Given the description of an element on the screen output the (x, y) to click on. 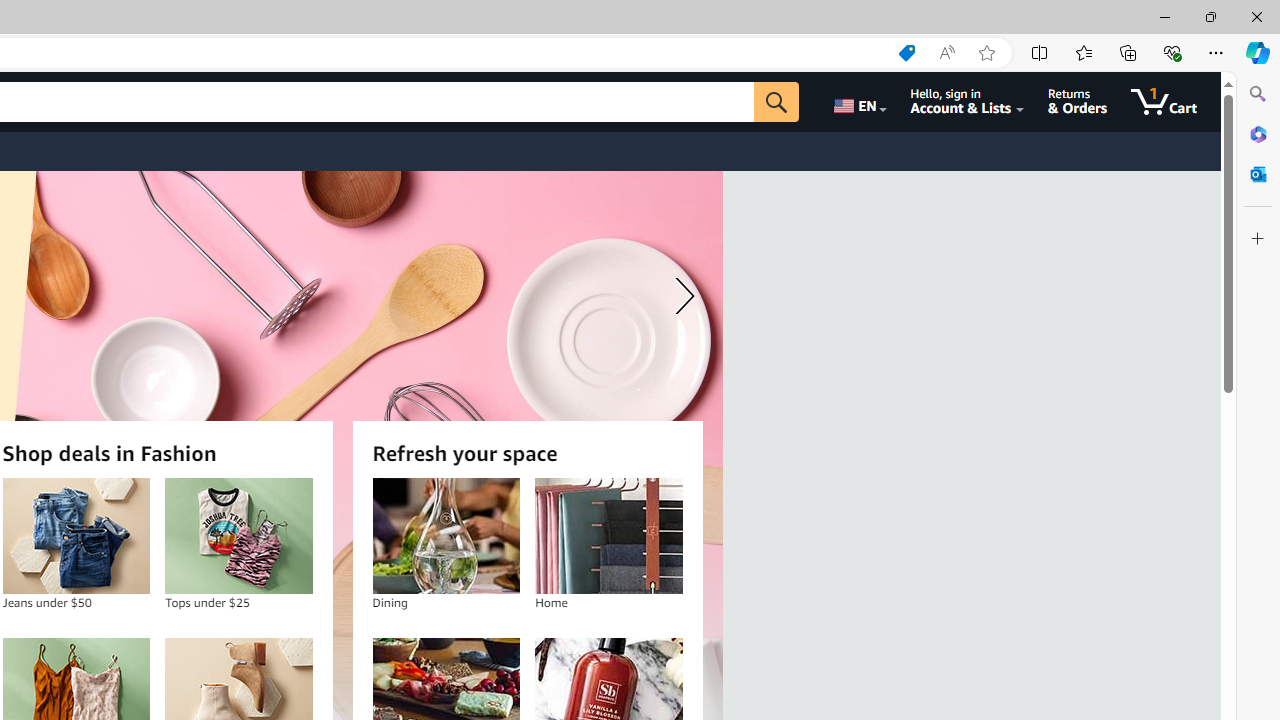
Tops under $25 (238, 536)
Dining (445, 536)
1 item in cart (1163, 101)
Jeans under $50 (75, 536)
Next slide (680, 296)
